Given the description of an element on the screen output the (x, y) to click on. 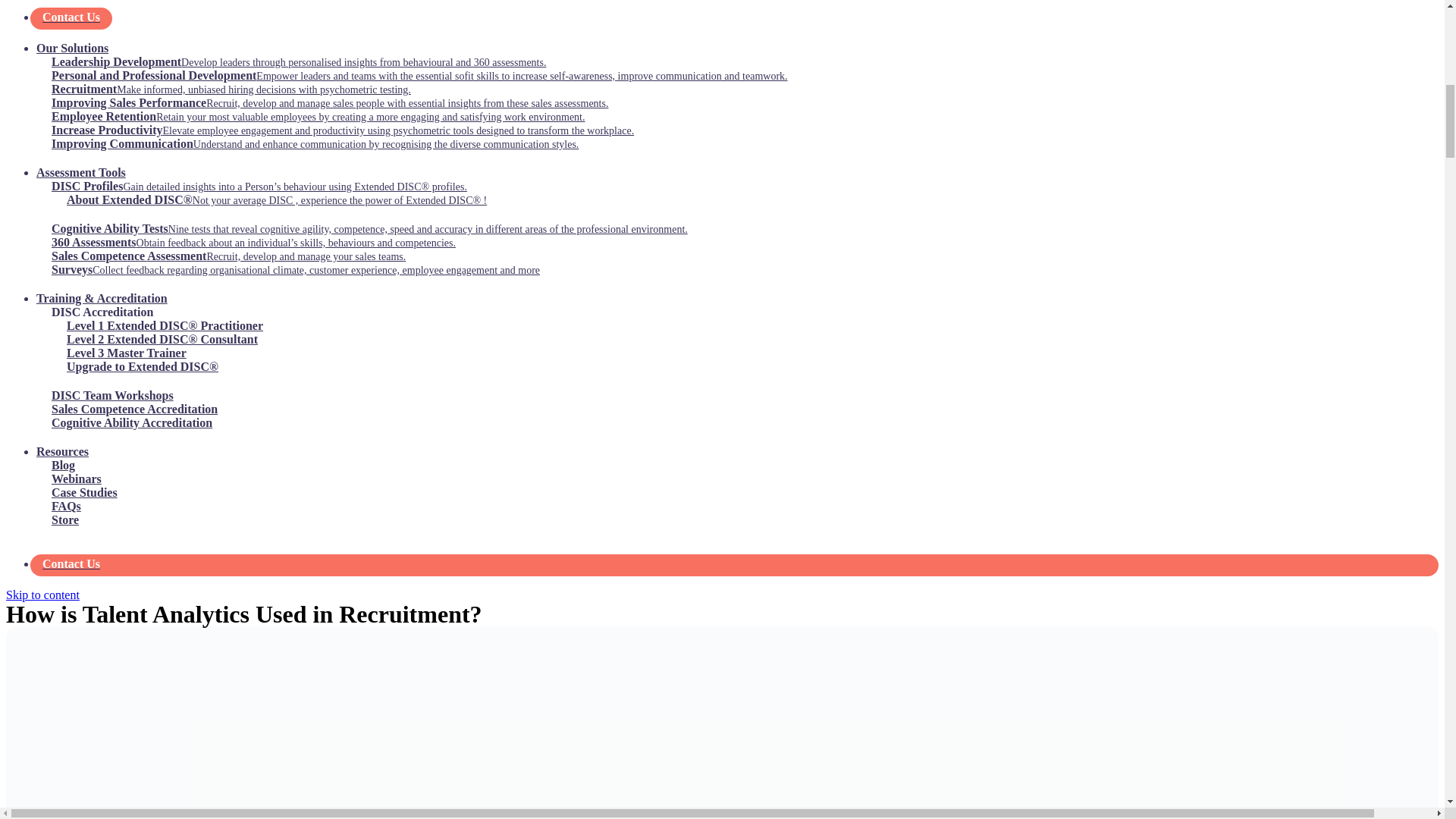
Contact Us (737, 14)
Our Solutions (71, 47)
